Given the description of an element on the screen output the (x, y) to click on. 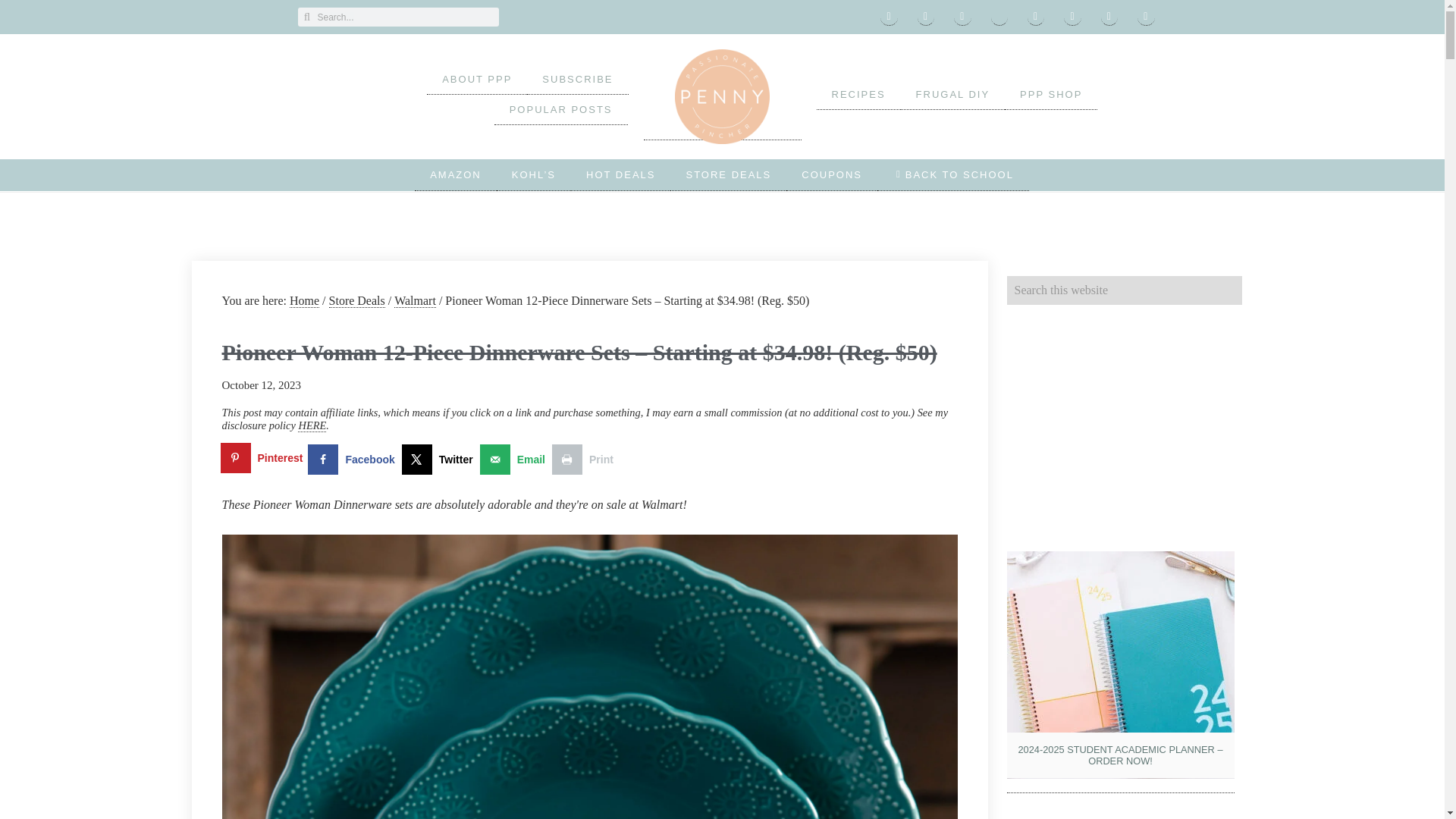
Save to Pinterest (264, 459)
Send over email (515, 459)
Share on X (440, 459)
POPULAR POSTS (561, 110)
Print this webpage (585, 459)
ABOUT PPP (476, 79)
RECIPES (857, 94)
SUBSCRIBE (577, 79)
FRUGAL DIY (953, 94)
PPP SHOP (1050, 94)
AMAZON (455, 174)
Share on Facebook (354, 459)
